Given the description of an element on the screen output the (x, y) to click on. 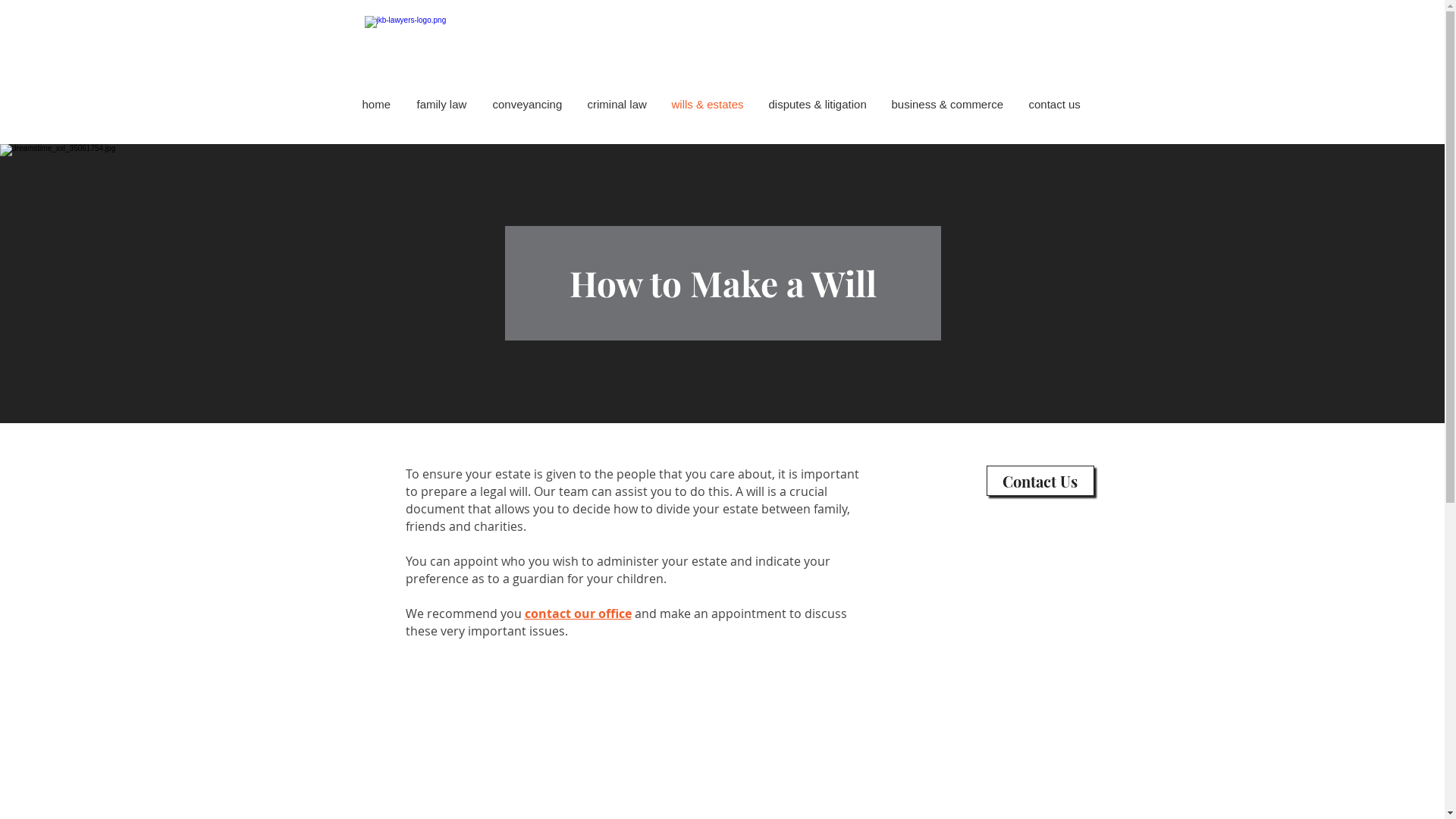
criminal law Element type: text (618, 104)
business & commerce Element type: text (947, 104)
contact our office Element type: text (577, 614)
Contact Us Element type: text (1039, 480)
contact us Element type: text (1055, 104)
conveyancing Element type: text (527, 104)
disputes & litigation Element type: text (817, 104)
wills & estates Element type: text (707, 104)
family law Element type: text (442, 104)
home Element type: text (377, 104)
